Given the description of an element on the screen output the (x, y) to click on. 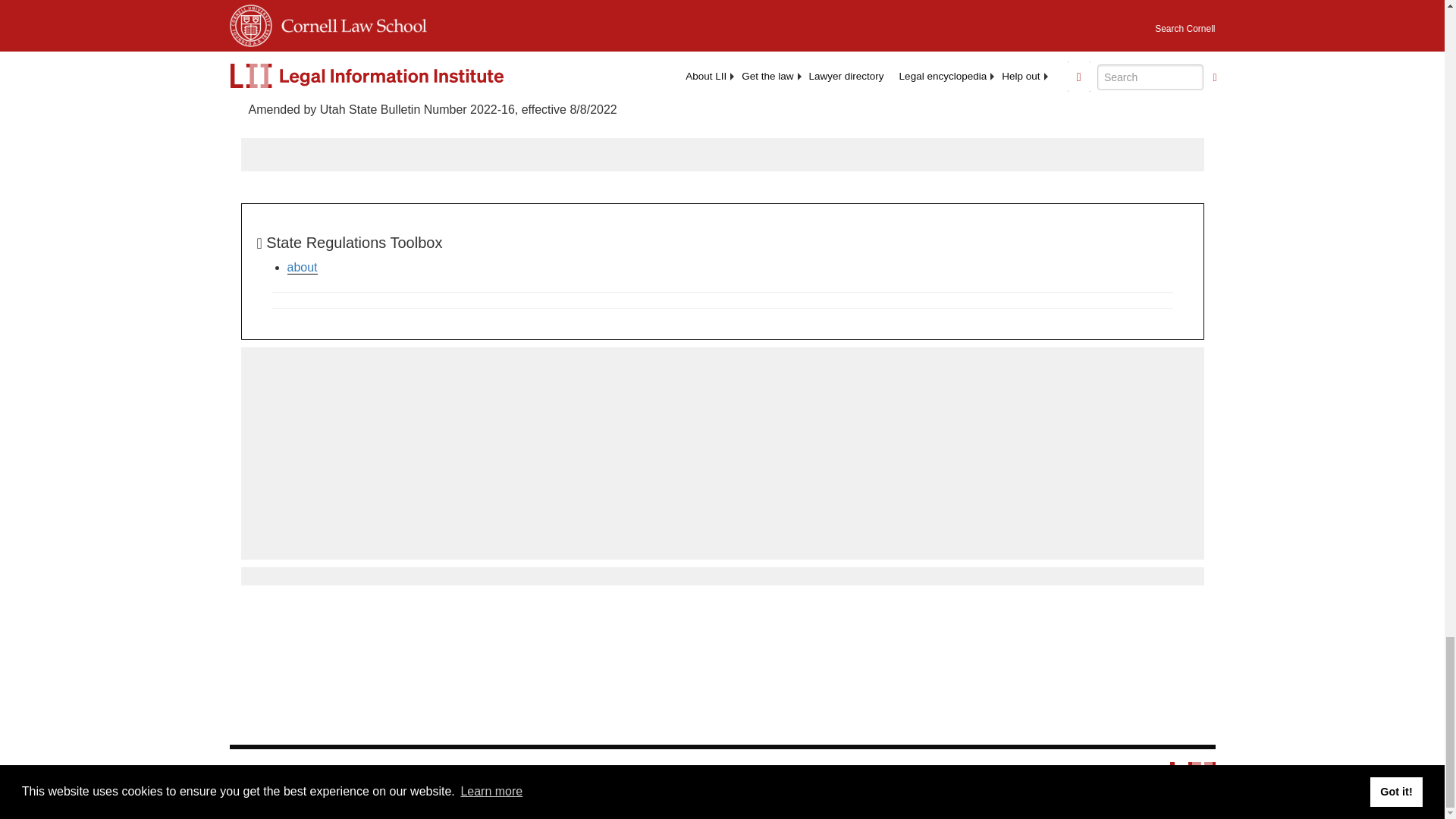
LII home page (1192, 783)
3rd party ad content (721, 452)
